Given the description of an element on the screen output the (x, y) to click on. 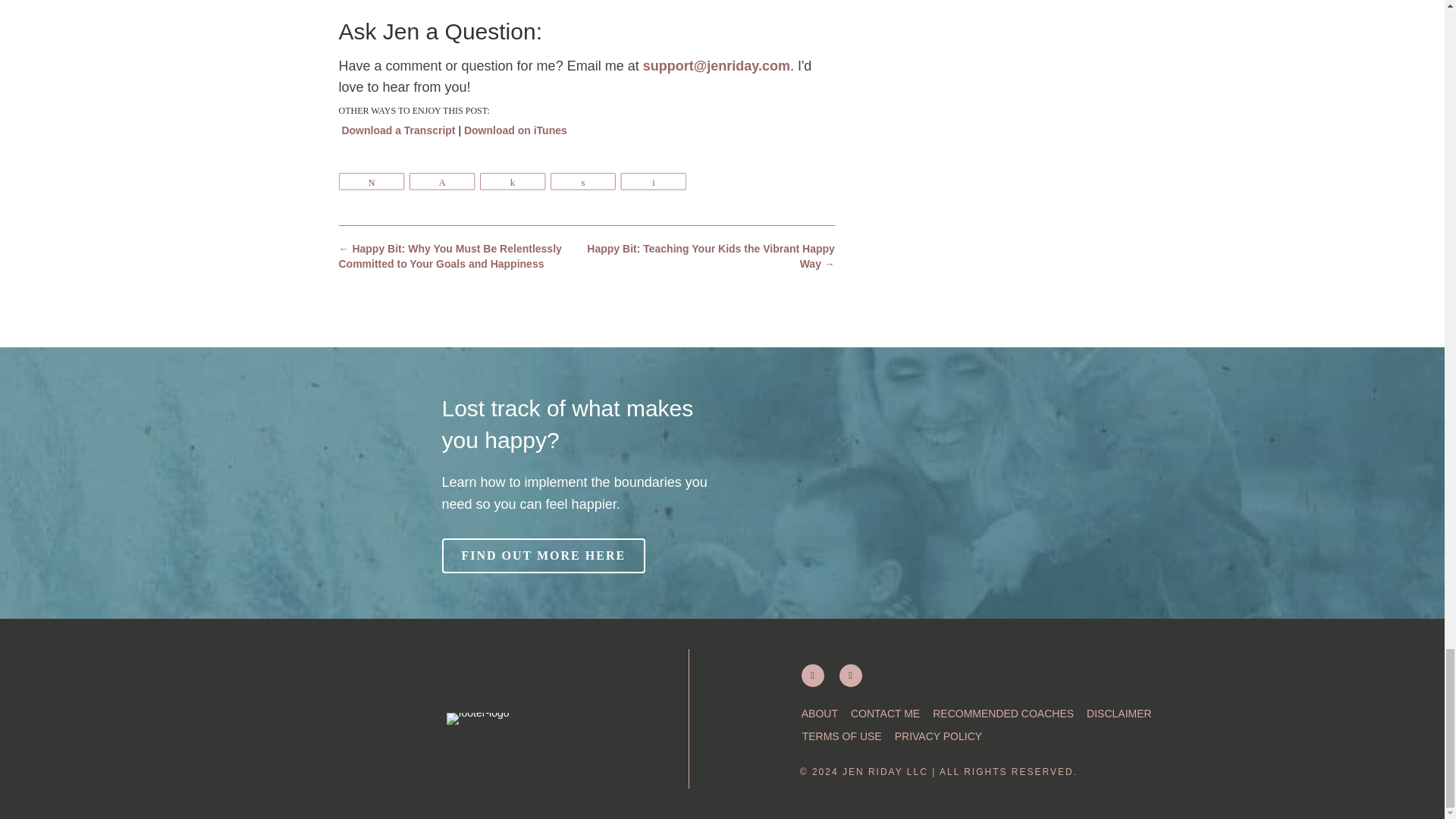
Download on iTunes (515, 130)
footer-logo (477, 717)
Download a Transcript (397, 130)
Facebook (850, 675)
Instagram (813, 675)
